Given the description of an element on the screen output the (x, y) to click on. 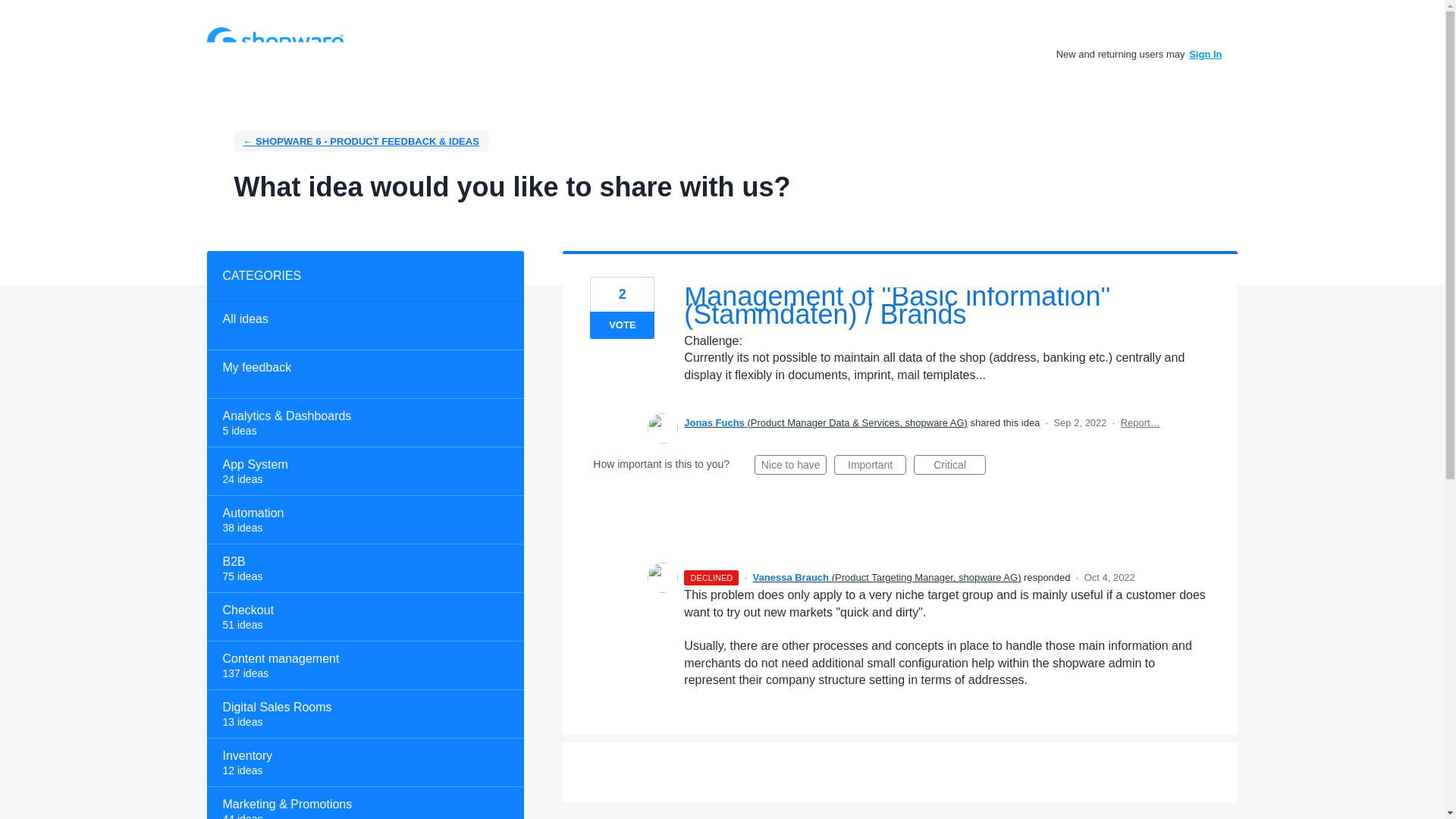
View all ideas in category App System (364, 471)
View all ideas in category B2B  (364, 568)
View all ideas in category Content management (364, 665)
Have an idea? Share it! (274, 41)
Skip to content (12, 12)
Inventory (364, 762)
View all ideas in category Automation (364, 520)
View all ideas in category Inventory (364, 762)
B2B (364, 568)
View all ideas in category Digital Sales Rooms (364, 714)
Automation (364, 520)
View all ideas in category Checkout (364, 616)
Sign In (1205, 53)
App System (364, 471)
All ideas (364, 326)
